Given the description of an element on the screen output the (x, y) to click on. 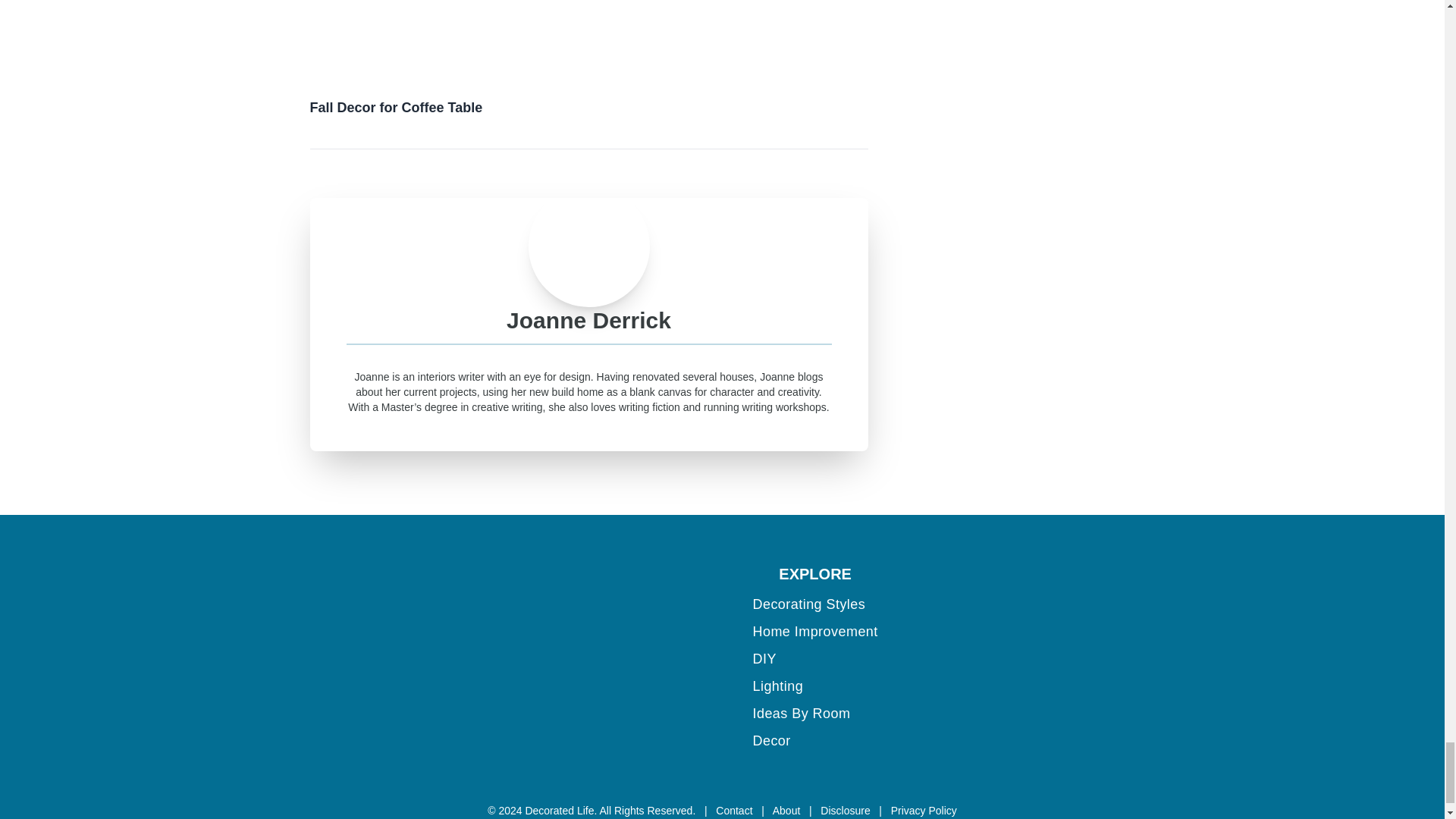
Decorating Styles (808, 604)
DIY (764, 658)
Lighting (777, 685)
Fall Decor for Coffee Table (443, 57)
Fall Decor for Coffee Table (443, 38)
Home Improvement (814, 631)
